Given the description of an element on the screen output the (x, y) to click on. 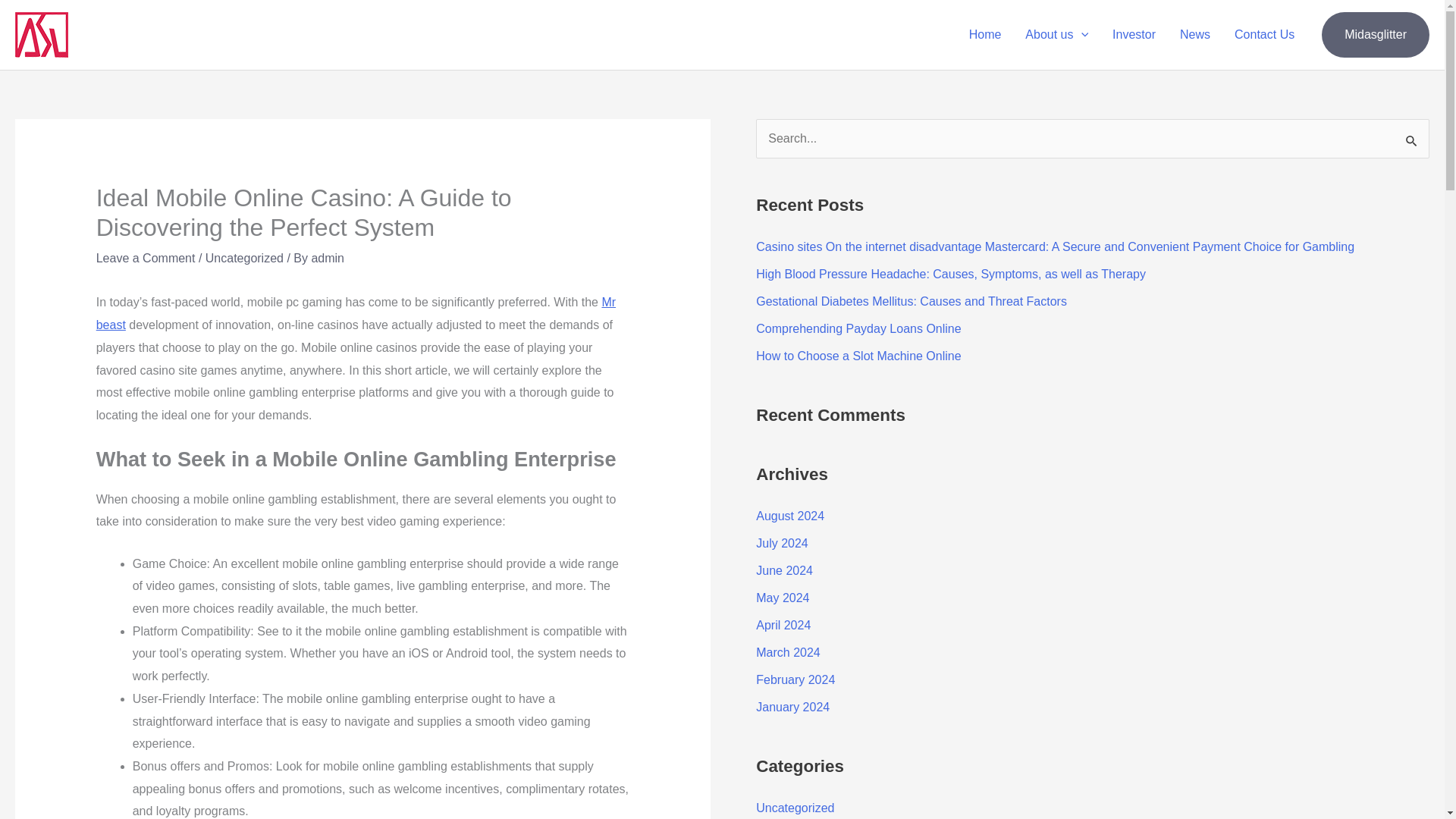
About us (1056, 34)
Contact Us (1264, 34)
View all posts by admin (327, 257)
Mr beast (355, 313)
News (1195, 34)
Leave a Comment (145, 257)
Midasglitter (1375, 34)
Home (984, 34)
Investor (1133, 34)
admin (327, 257)
Uncategorized (244, 257)
Gestational Diabetes Mellitus: Causes and Threat Factors (911, 300)
